Given the description of an element on the screen output the (x, y) to click on. 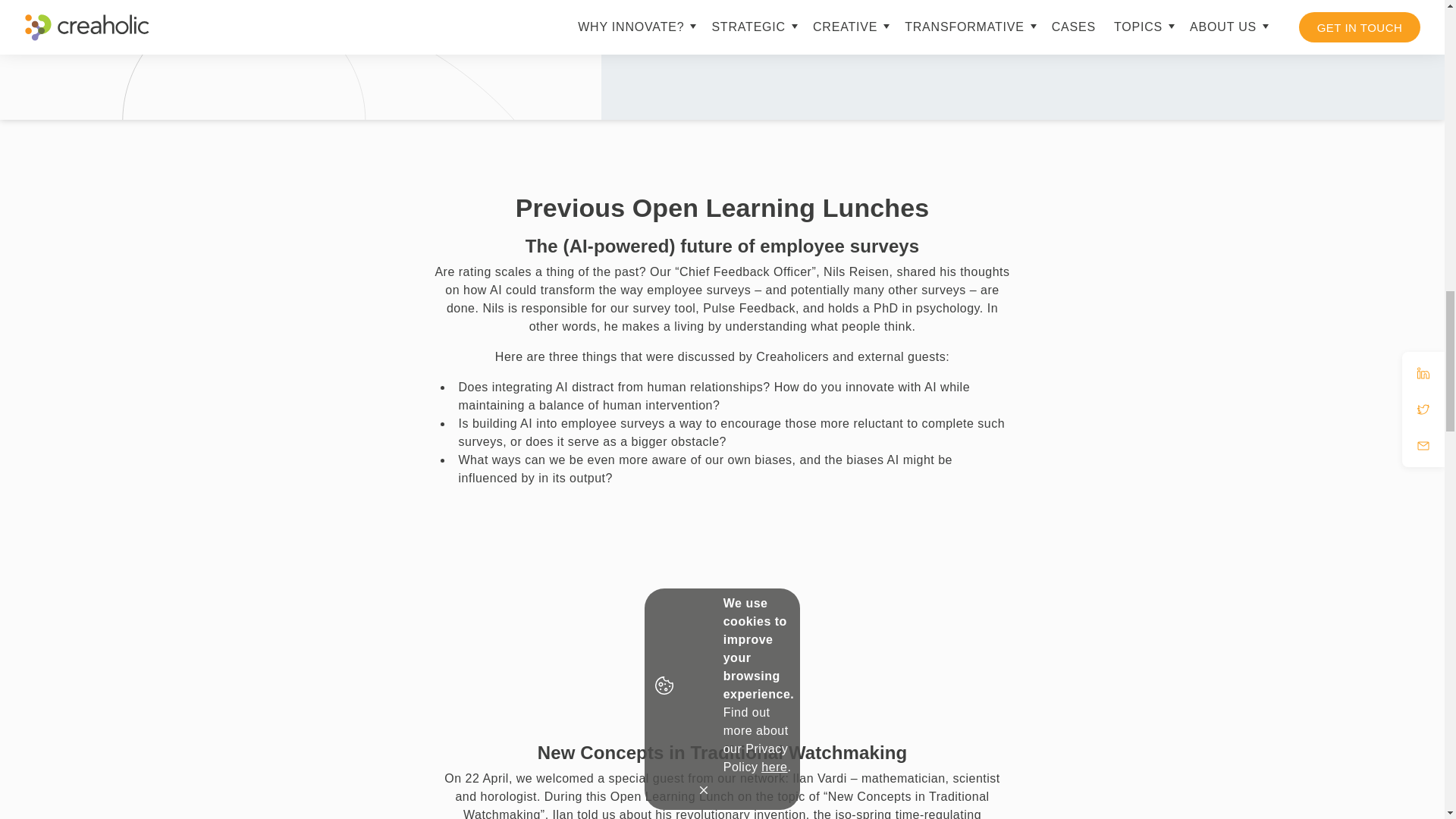
Subscribe (782, 31)
Subscribe (782, 31)
